Given the description of an element on the screen output the (x, y) to click on. 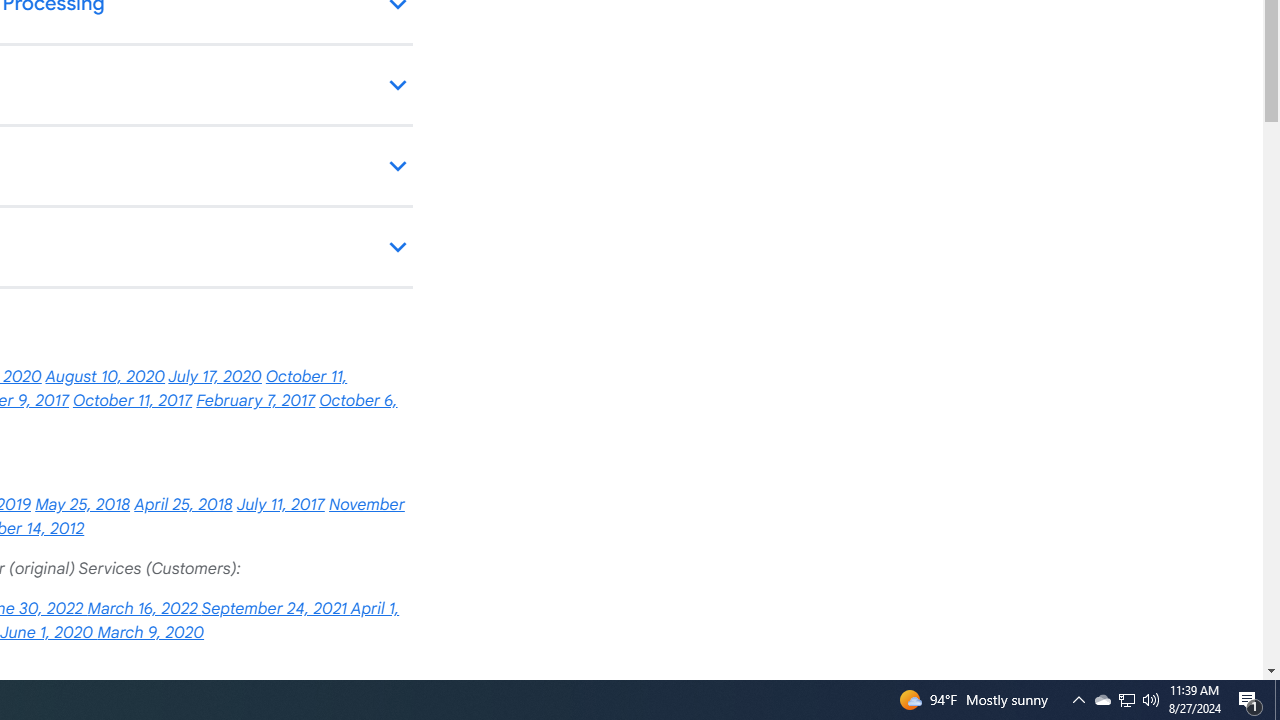
March 9, 2020 (150, 632)
August 10, 2020 (105, 377)
July 11, 2017 (280, 504)
October 11, 2017 (132, 400)
July 17, 2020 (214, 377)
April 25, 2018 (183, 504)
February 7, 2017 (255, 400)
May 25, 2018 (82, 504)
